Given the description of an element on the screen output the (x, y) to click on. 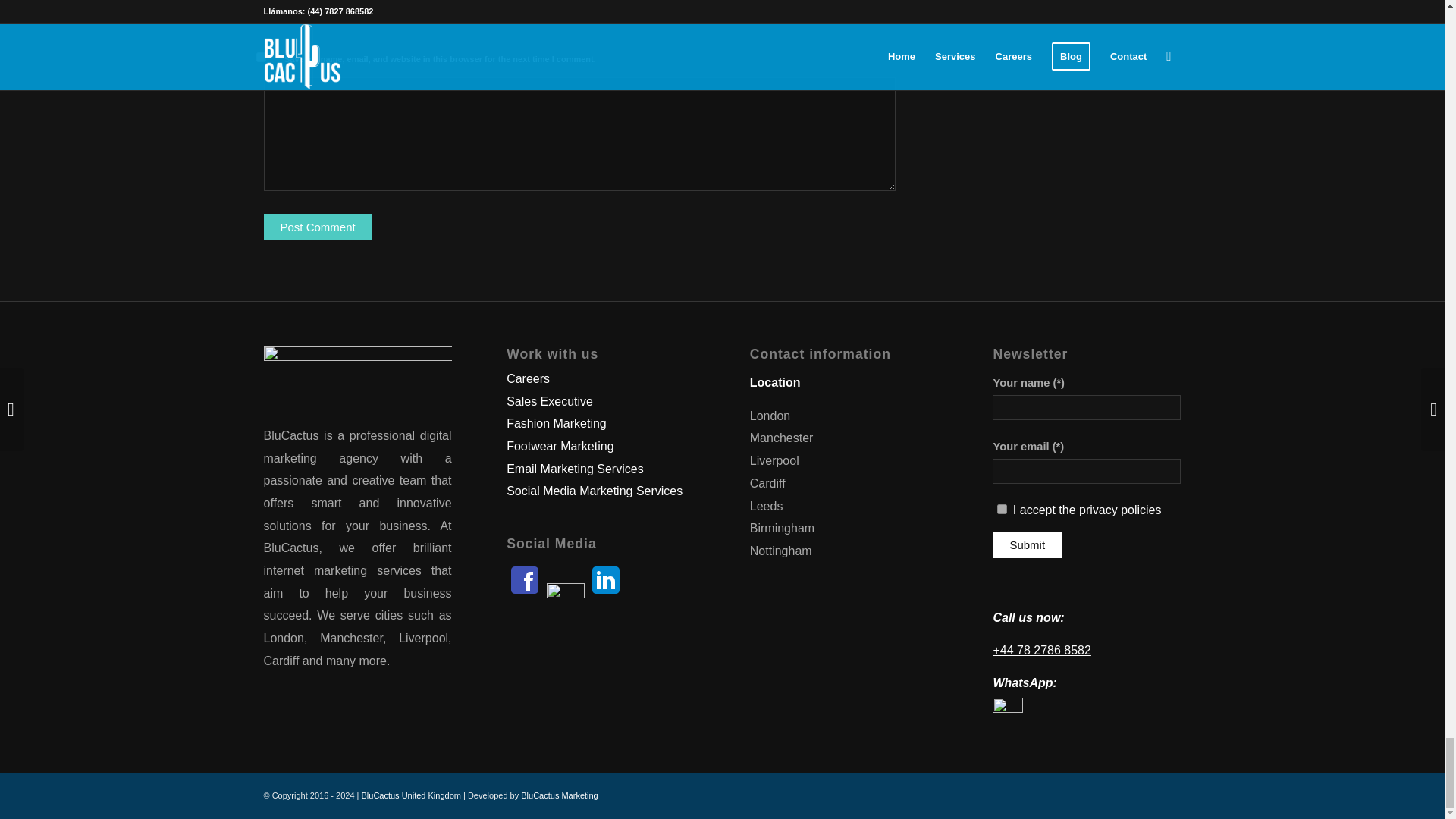
Submit (1026, 544)
Post Comment (317, 226)
1 (1002, 509)
yes (261, 57)
